Given the description of an element on the screen output the (x, y) to click on. 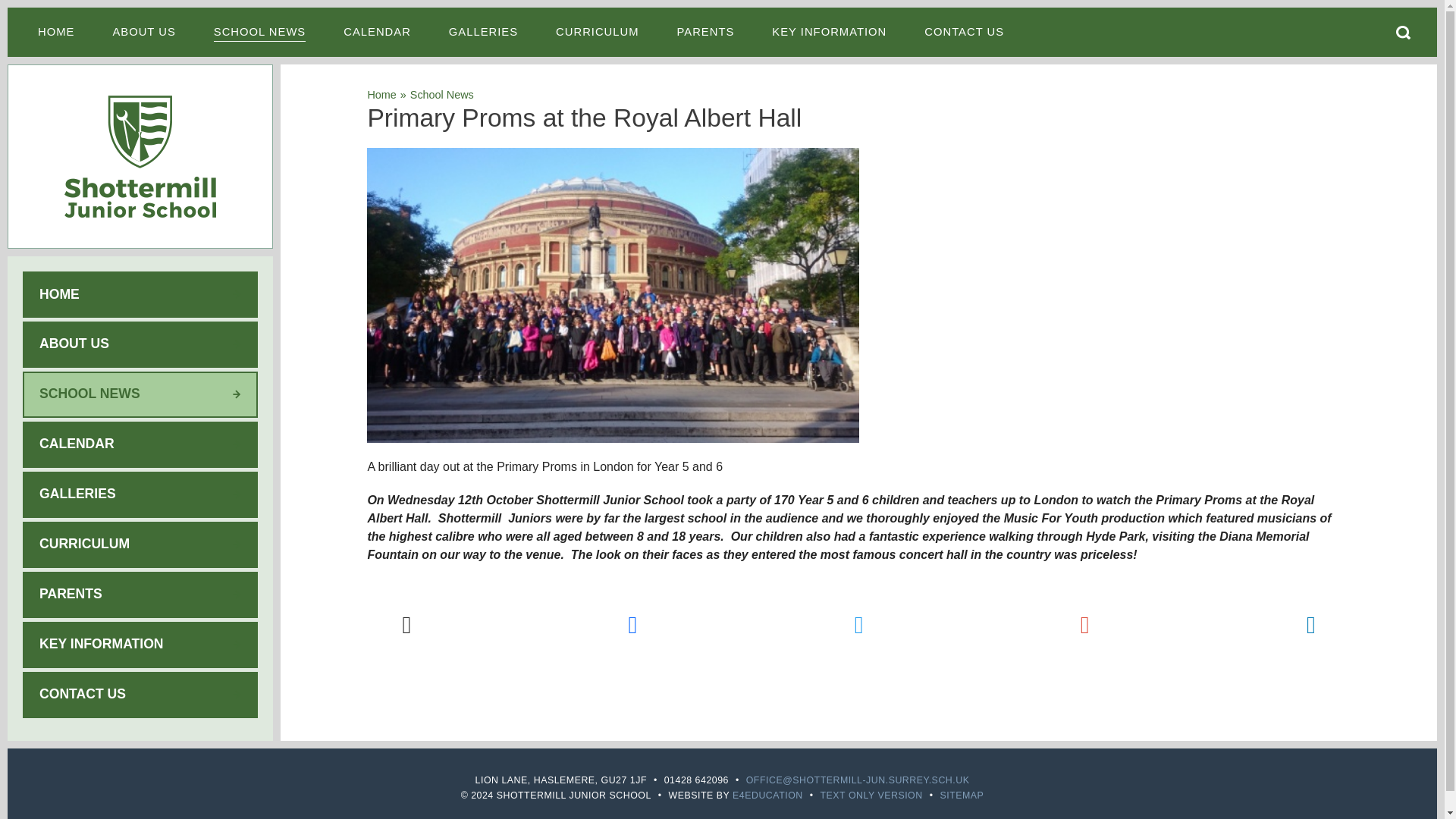
ABOUT US (143, 31)
CALENDAR (376, 31)
GALLERIES (483, 31)
CURRICULUM (597, 31)
SCHOOL NEWS (259, 31)
